Given the description of an element on the screen output the (x, y) to click on. 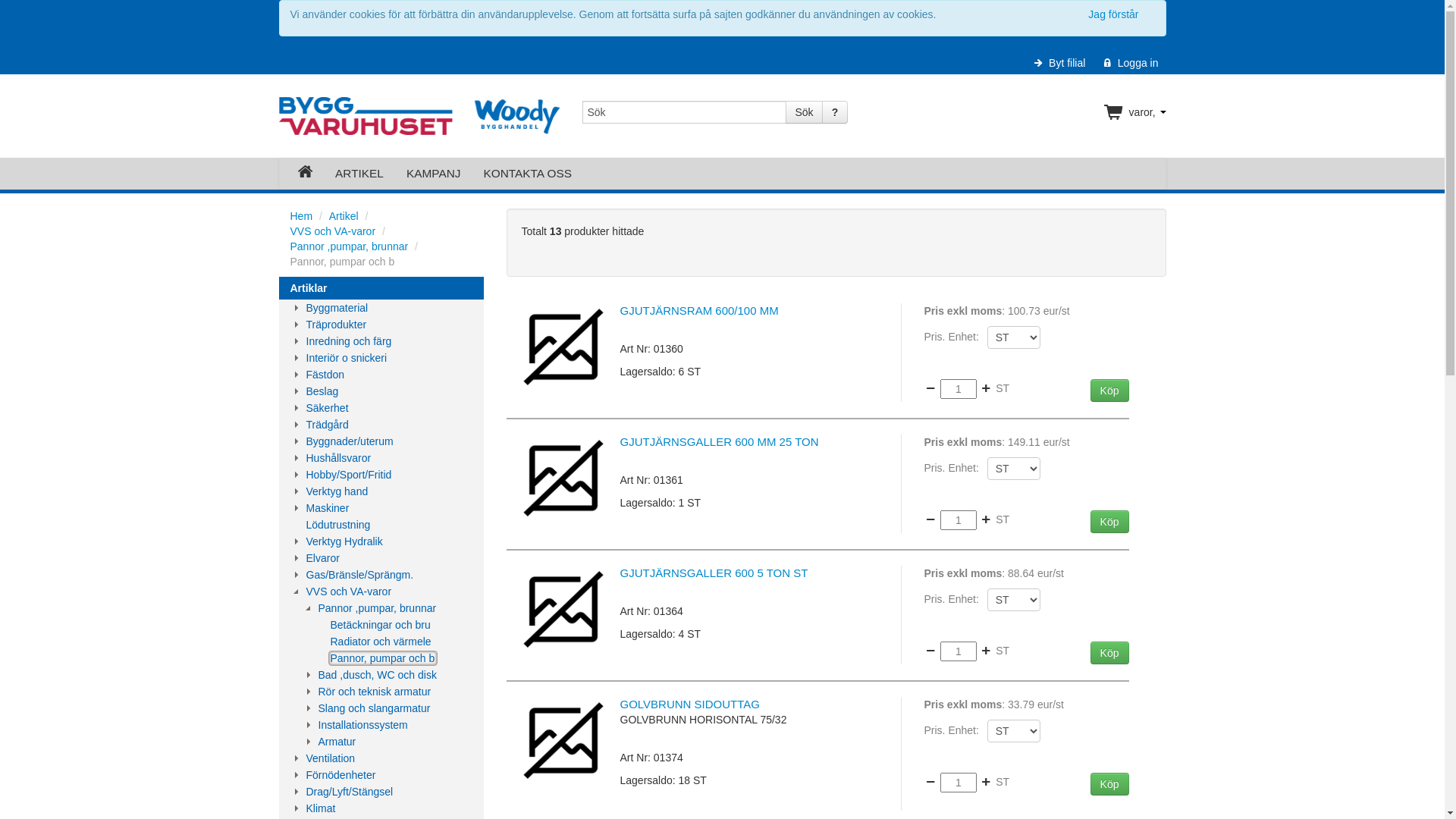
Verktyg hand Element type: text (337, 491)
Ventilation Element type: text (330, 758)
  Element type: text (301, 173)
01360 Element type: hover (562, 346)
Verktyg Hydralik Element type: text (344, 541)
Byt filial Element type: text (1058, 62)
Elvaror Element type: text (322, 558)
Beslag Element type: text (322, 391)
Armatur Element type: text (337, 741)
01374 Element type: hover (562, 740)
KAMPANJ Element type: text (433, 173)
? Element type: text (835, 111)
Logga in Element type: text (1128, 62)
Hem Element type: text (300, 216)
Hobby/Sport/Fritid Element type: text (349, 474)
Byggnader/uterum Element type: text (349, 441)
01361 Element type: hover (562, 477)
Bad ,dusch, WC och disk Element type: text (377, 674)
Slang och slangarmatur Element type: text (374, 708)
ARTIKEL Element type: text (359, 173)
Installationssystem Element type: text (362, 724)
Pannor ,pumpar, brunnar Element type: text (348, 246)
Maskiner Element type: text (327, 508)
Byggmaterial Element type: text (337, 307)
01364 Element type: hover (562, 608)
VVS och VA-varor Element type: text (349, 591)
varor, Element type: text (1135, 112)
Artikel Element type: text (343, 216)
Klimat Element type: text (320, 808)
VVS och VA-varor Element type: text (332, 231)
Pannor, pumpar och b Element type: text (382, 658)
KONTAKTA OSS Element type: text (527, 173)
GOLVBRUNN SIDOUTTAG Element type: text (689, 703)
Pannor ,pumpar, brunnar Element type: text (377, 608)
